Given the description of an element on the screen output the (x, y) to click on. 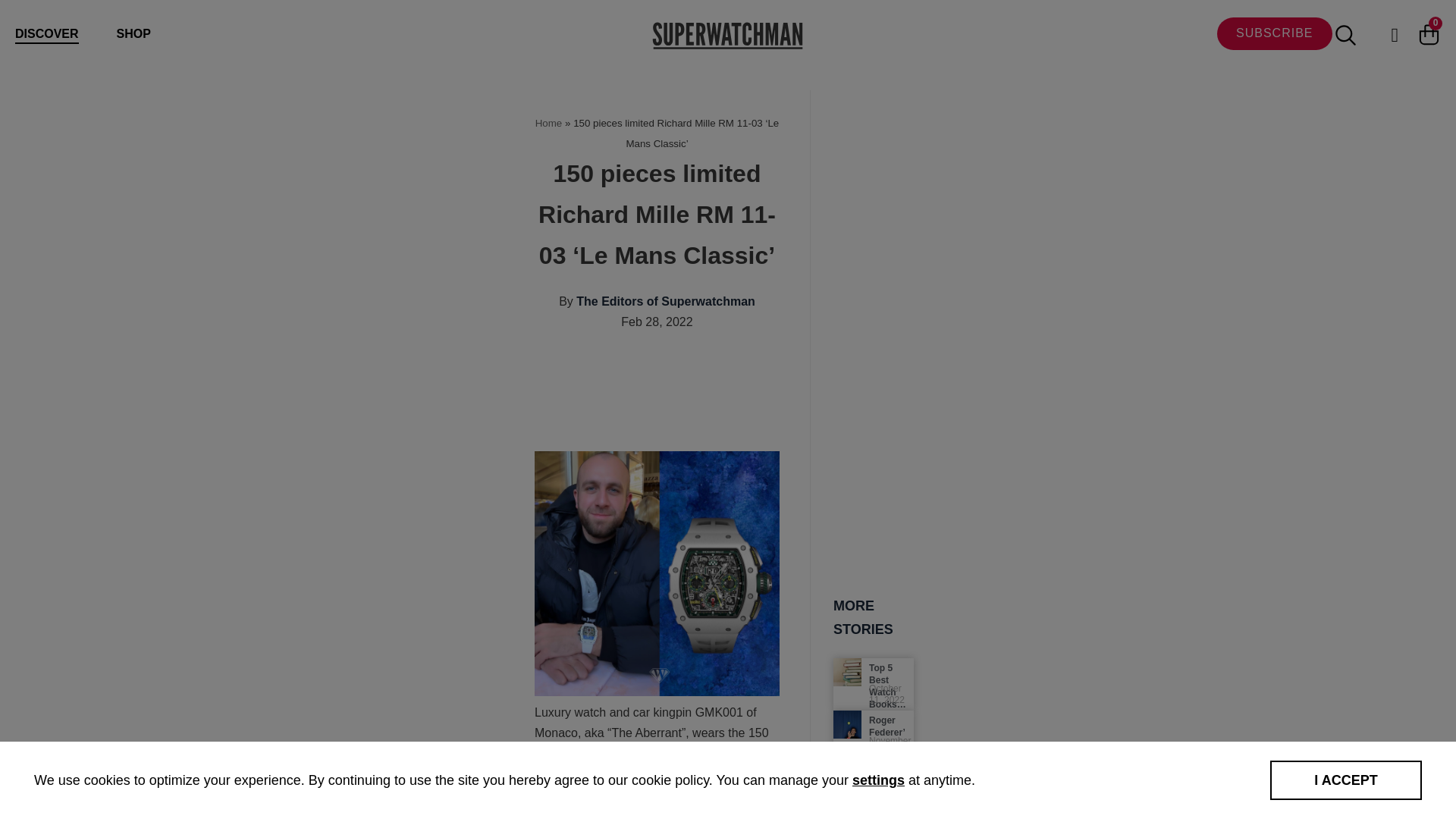
DISCOVER (46, 35)
SUBSCRIBE (1274, 33)
Skip to content (15, 31)
The Editors of Superwatchman (665, 300)
Home (548, 122)
Advertisement (810, 398)
SHOP (133, 33)
